Given the description of an element on the screen output the (x, y) to click on. 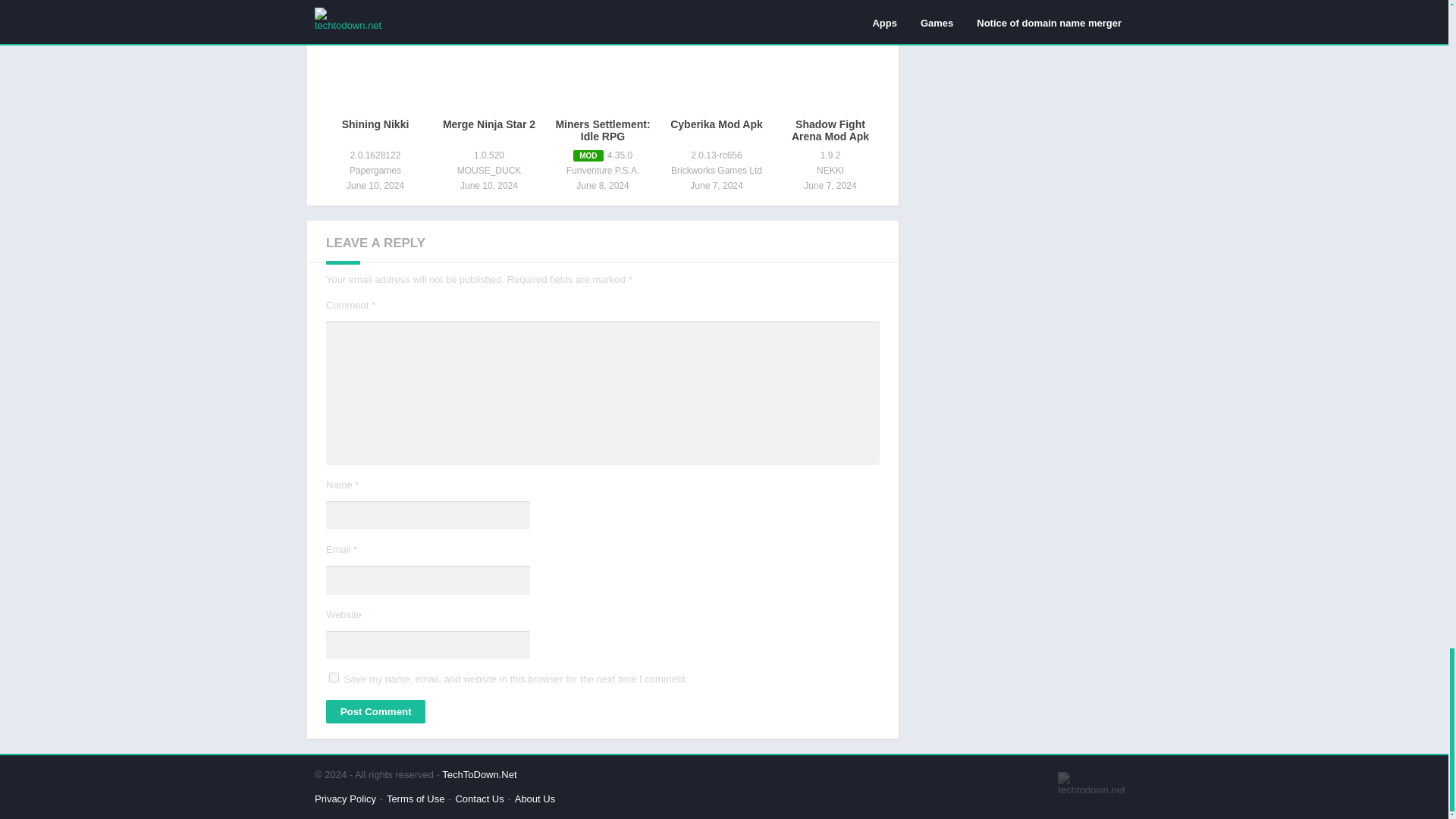
yes (334, 677)
Shining Nikki 5 (375, 61)
Post Comment (375, 711)
Post Comment (375, 711)
